Given the description of an element on the screen output the (x, y) to click on. 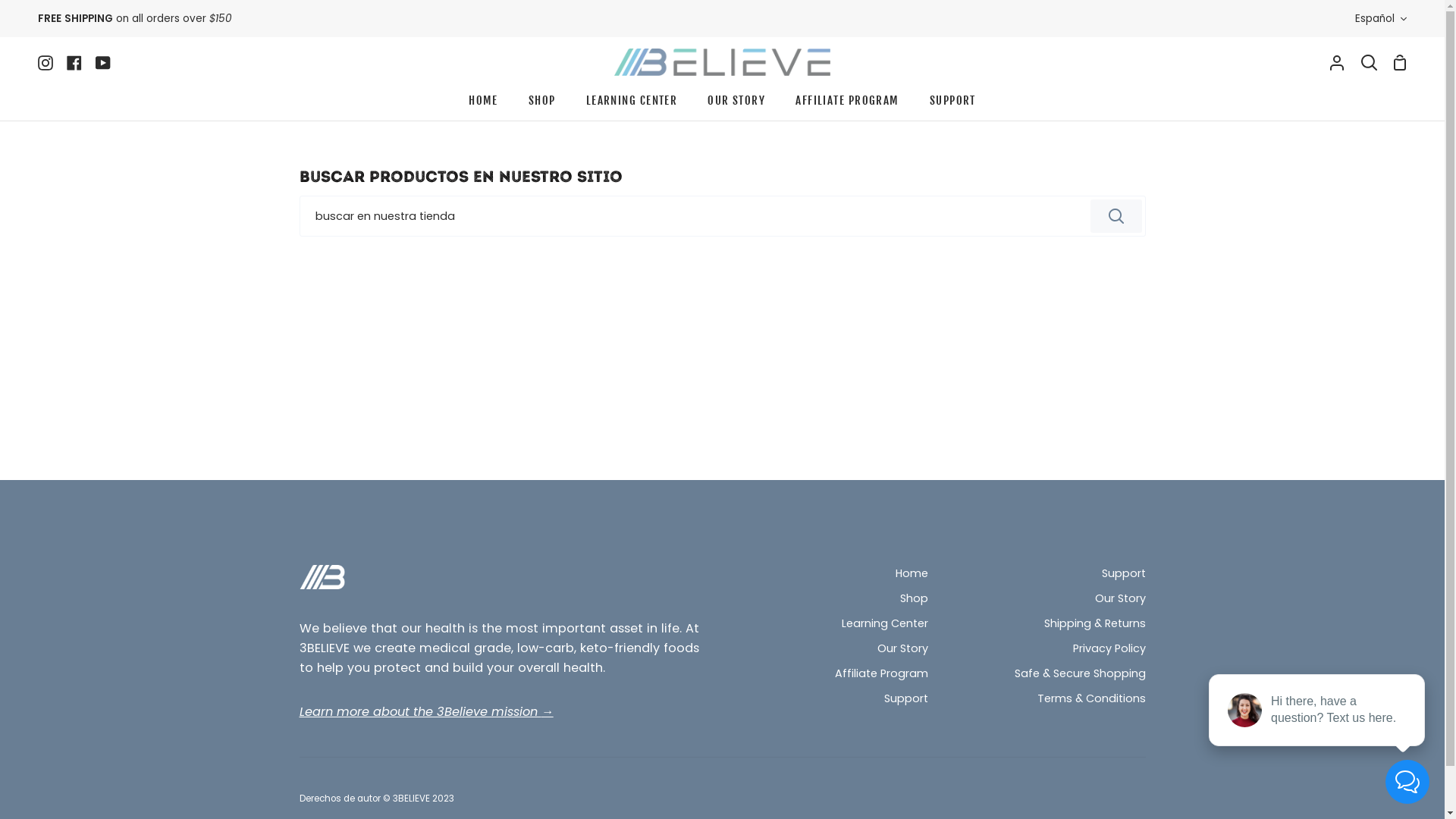
Buscar Element type: text (1368, 62)
SUPPORT Element type: text (952, 104)
LEARNING CENTER Element type: text (632, 104)
Buscar Element type: text (1116, 215)
Shop Element type: text (913, 599)
Instagram Element type: text (48, 61)
Shipping & Returns Element type: text (1094, 624)
Support Element type: text (1123, 574)
Support Element type: text (906, 699)
Privacy Policy Element type: text (1108, 649)
Learning Center Element type: text (884, 624)
Affiliate Program Element type: text (880, 674)
YouTube Element type: text (102, 61)
Carrito de compra Element type: text (1399, 62)
Terms & Conditions Element type: text (1091, 699)
SHOP Element type: text (542, 104)
Mi cuenta Element type: text (1336, 62)
Our Story Element type: text (901, 649)
Safe & Secure Shopping Element type: text (1079, 674)
Our Story Element type: text (1120, 599)
Home Element type: text (910, 574)
OUR STORY Element type: text (736, 104)
AFFILIATE PROGRAM Element type: text (846, 104)
Facebook Element type: text (73, 61)
HOME Element type: text (483, 104)
